Given the description of an element on the screen output the (x, y) to click on. 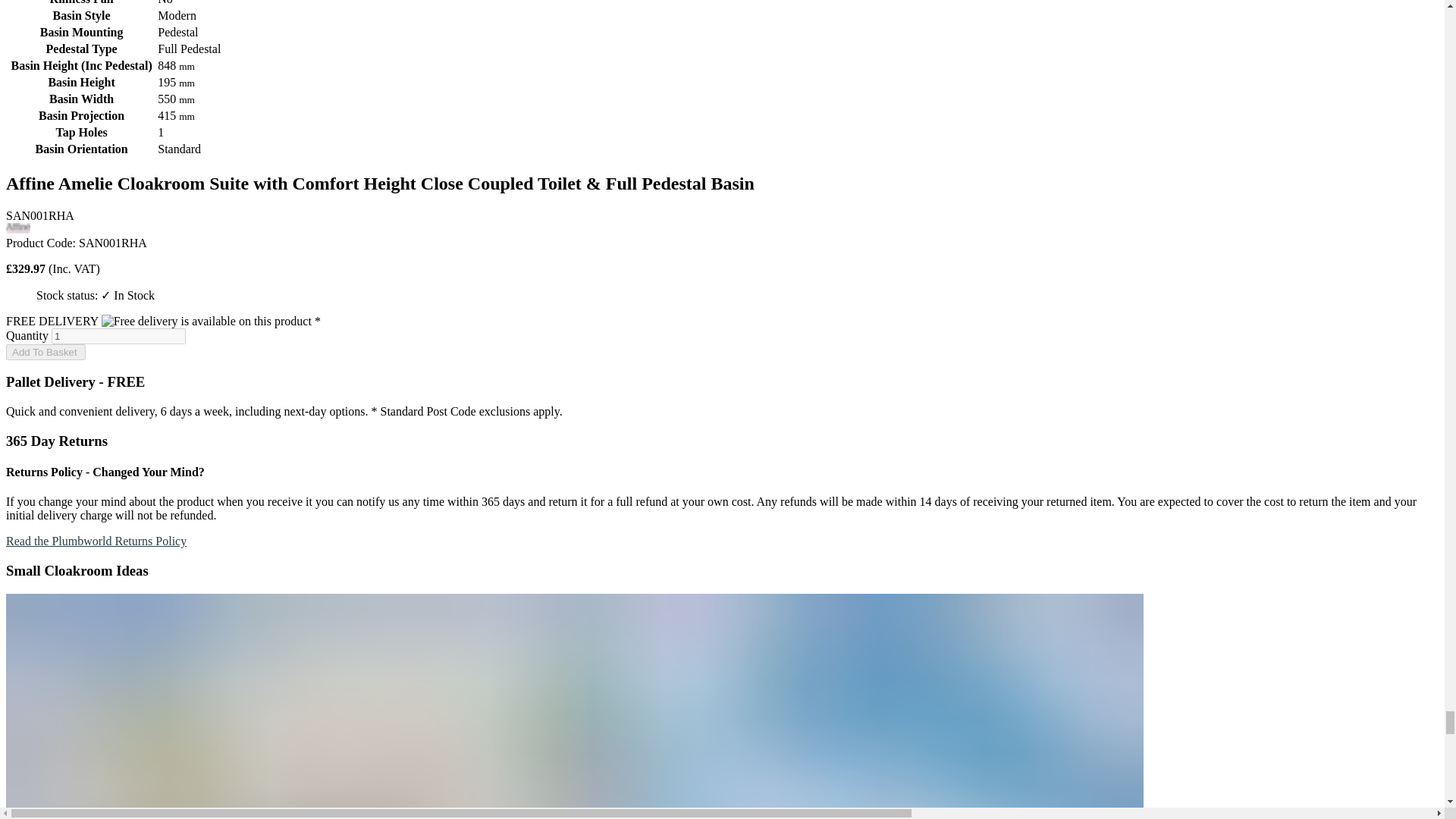
1 (118, 335)
